Given the description of an element on the screen output the (x, y) to click on. 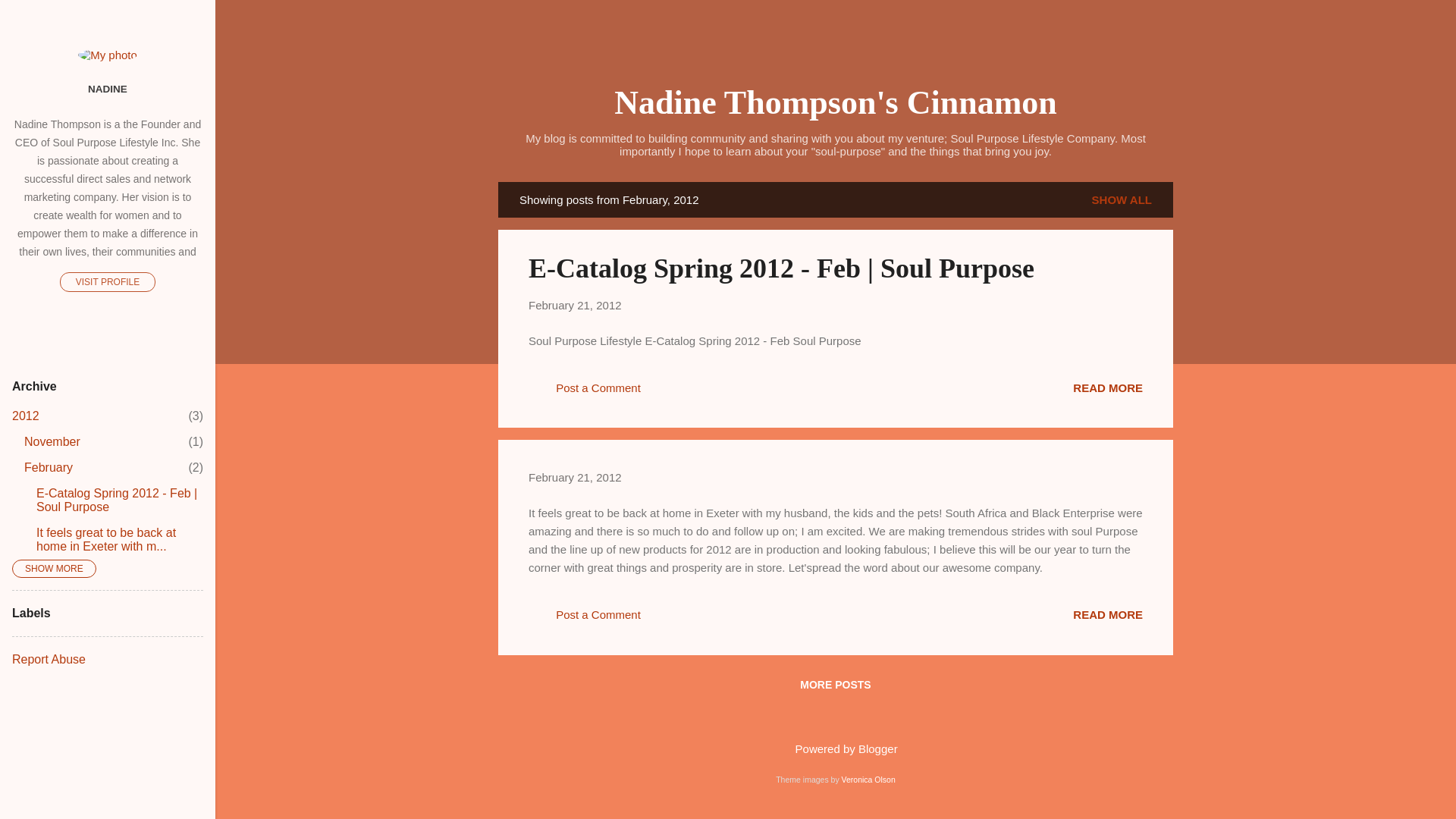
VISIT PROFILE (107, 281)
permanent link (574, 305)
Veronica Olson (25, 415)
Search (868, 778)
permanent link (29, 18)
READ MORE (574, 477)
NADINE (1107, 386)
Post a Comment (48, 467)
